Given the description of an element on the screen output the (x, y) to click on. 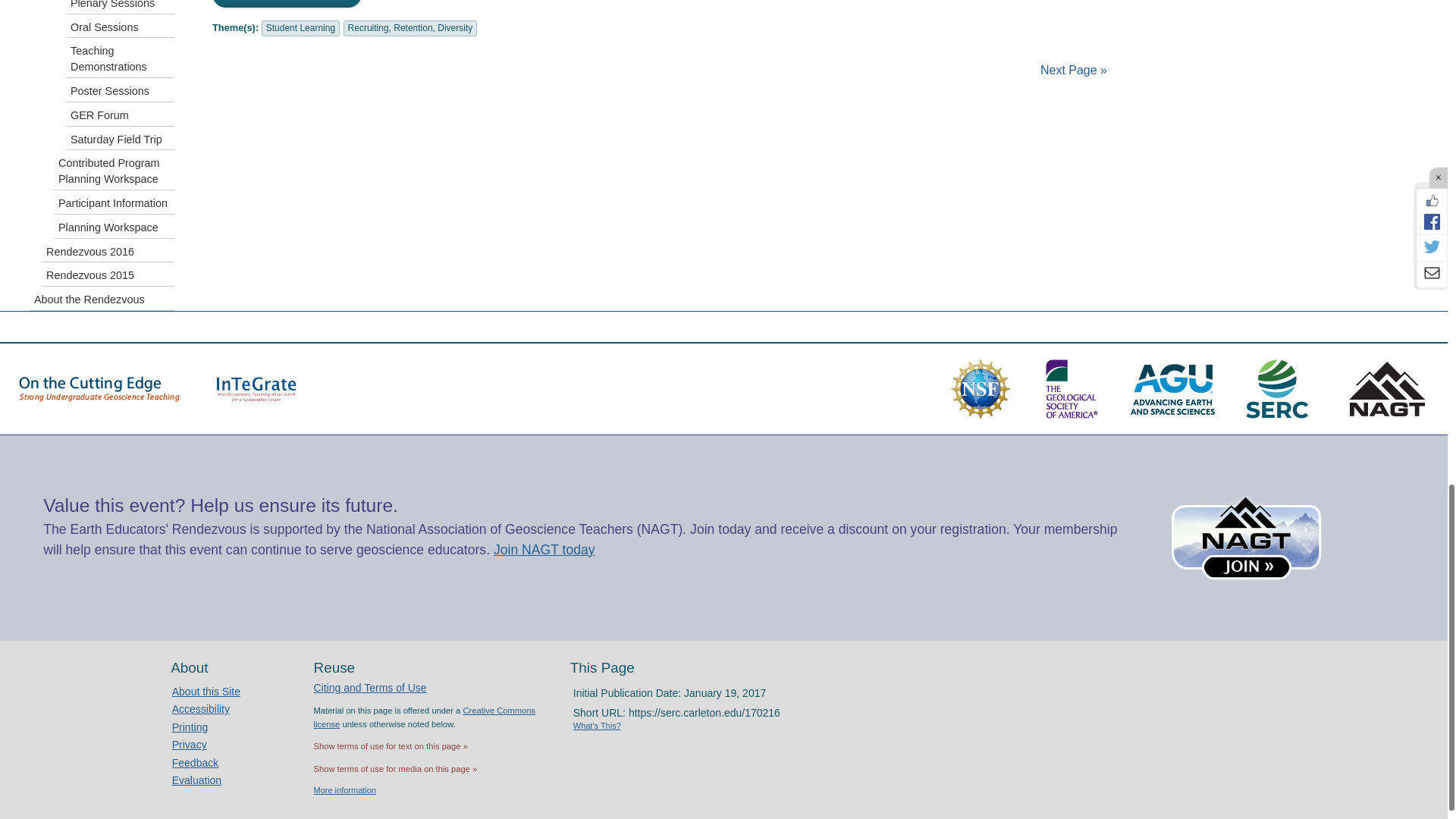
Recruiting, Retention, Diversity (410, 28)
Student Learning (300, 28)
